Given the description of an element on the screen output the (x, y) to click on. 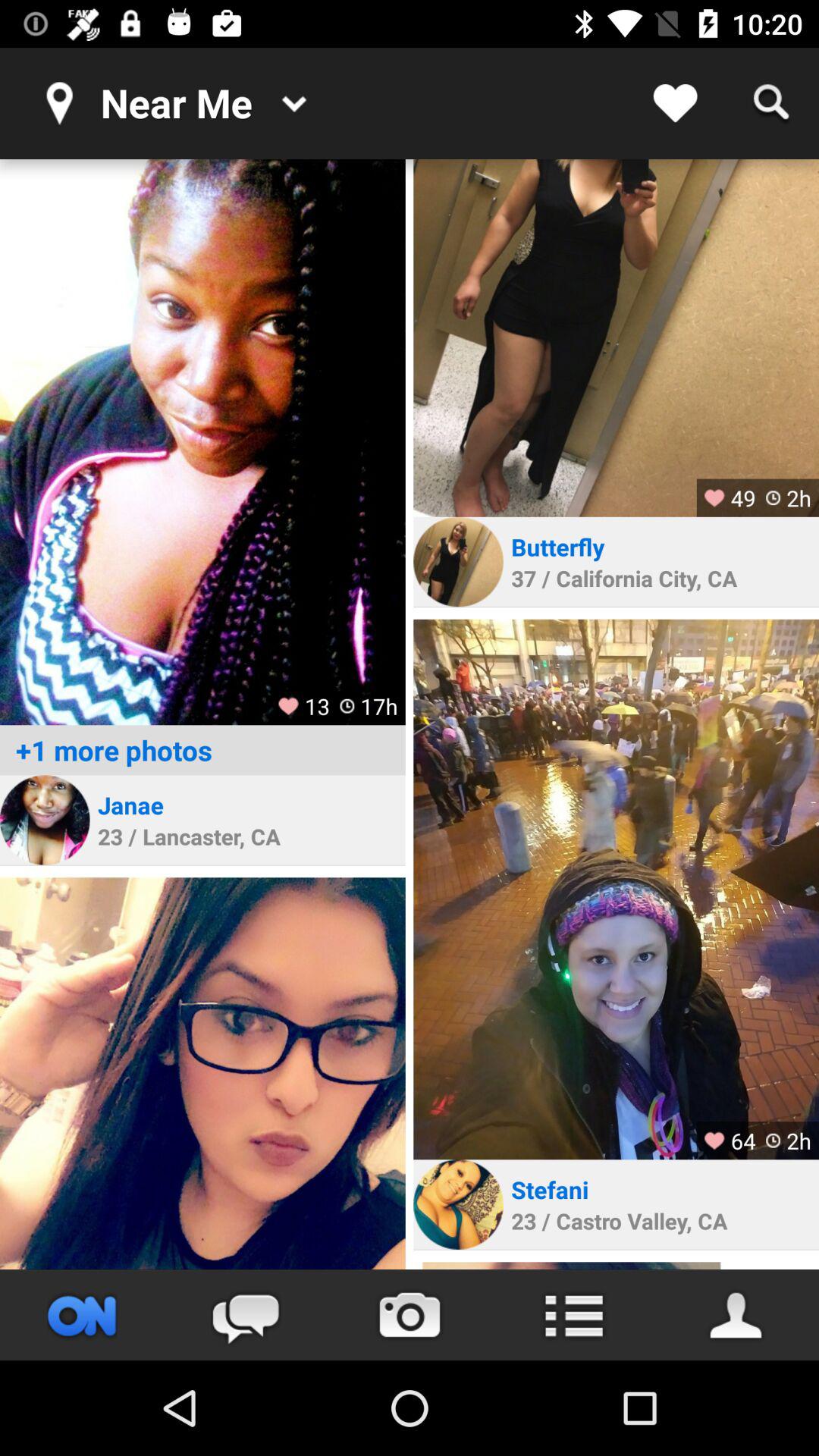
flip until the stefani (549, 1189)
